Given the description of an element on the screen output the (x, y) to click on. 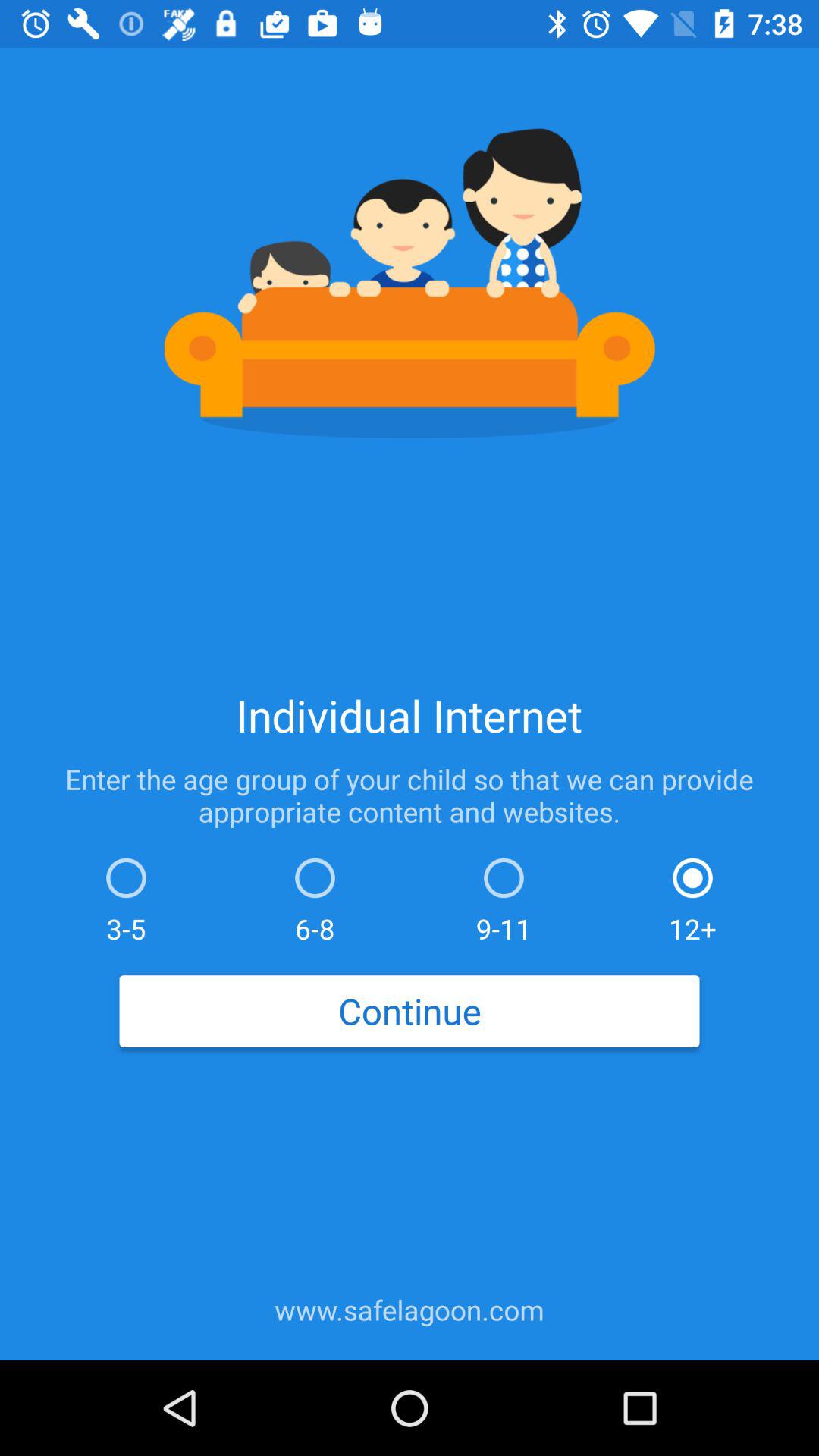
turn on icon above continue icon (692, 896)
